Given the description of an element on the screen output the (x, y) to click on. 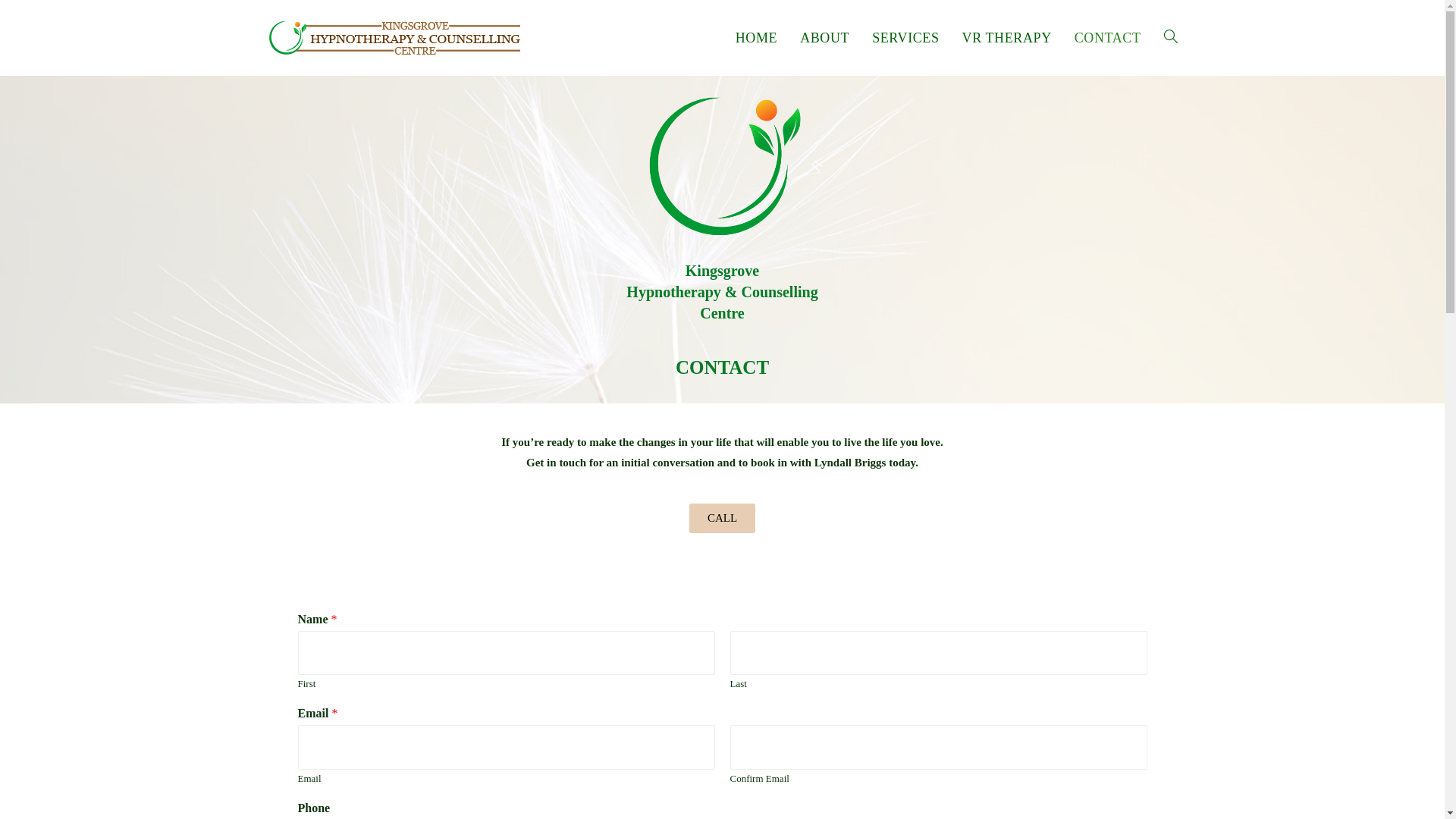
SITE INFO Element type: text (1024, 737)
CONTACT Element type: text (1107, 37)
VR THERAPY Element type: text (1006, 37)
HOME Element type: text (1002, 655)
PRIVACY POLICY Element type: text (1025, 717)
ABOUT Element type: text (824, 37)
CALL Element type: text (722, 518)
ABOUT Element type: text (1045, 655)
SERVICES Element type: text (905, 37)
CONTACT Element type: text (1055, 676)
SERVICES Element type: text (994, 676)
ACCESSIBILITY Element type: text (1025, 696)
HOME Element type: text (756, 37)
